Given the description of an element on the screen output the (x, y) to click on. 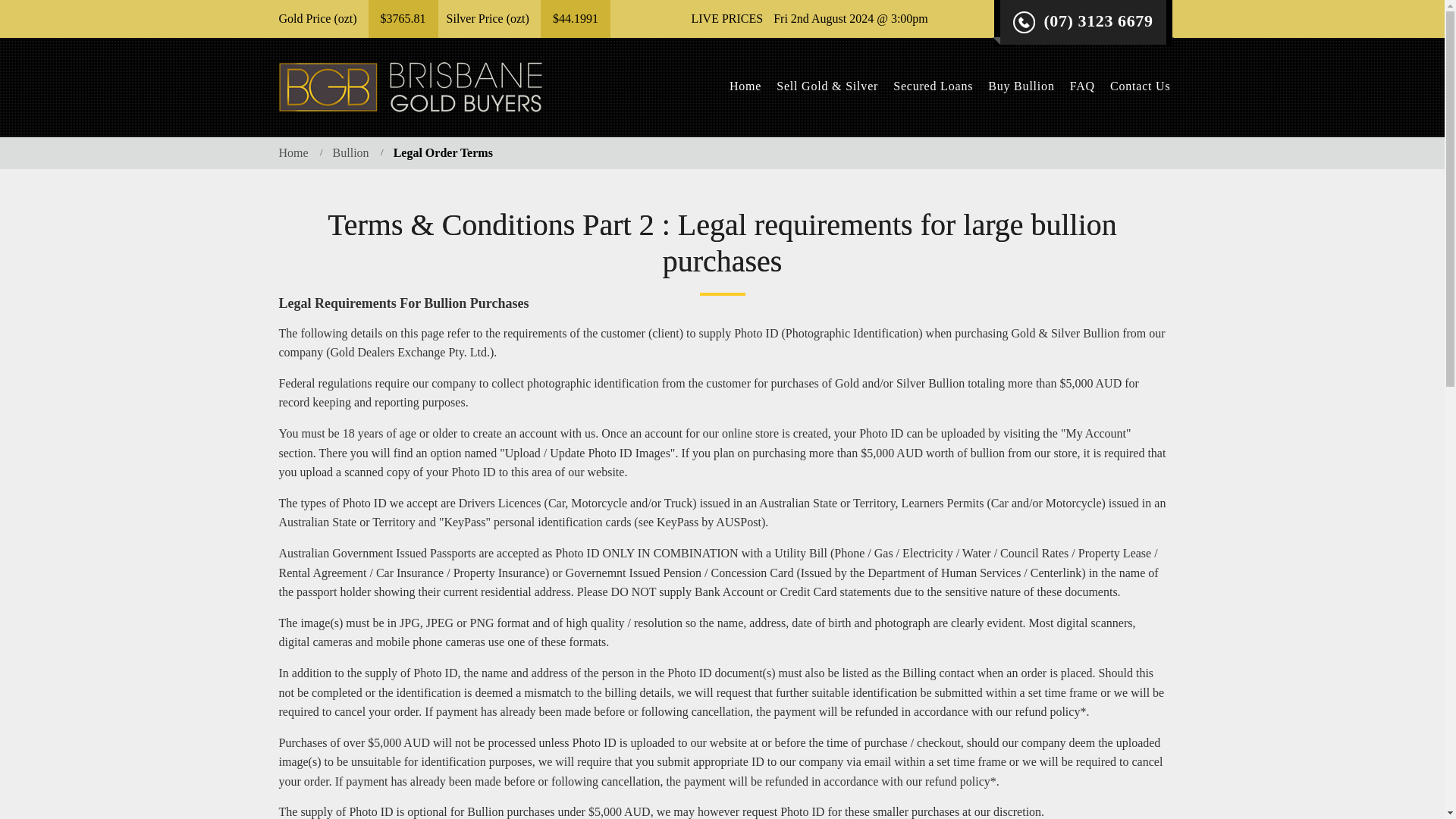
Contact Us (1139, 86)
Brisbane Gold Buyers (410, 87)
Home (293, 152)
Buy Bullion (1020, 86)
Bullion (351, 152)
Home (745, 86)
see KeyPass by AUSPost (700, 521)
Secured Loans (932, 86)
FAQ (1082, 86)
